Given the description of an element on the screen output the (x, y) to click on. 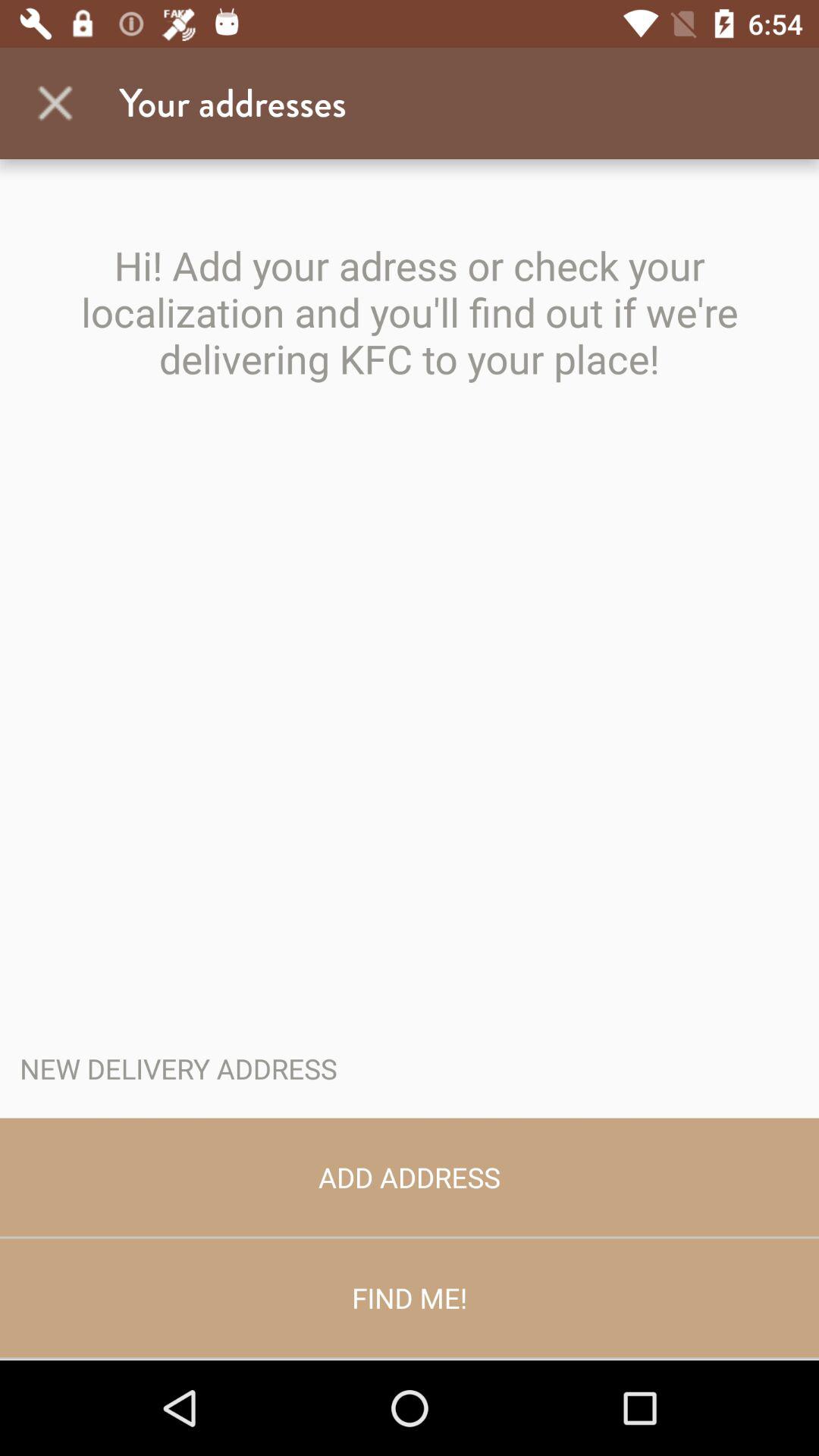
tap item next to your addresses (55, 103)
